Given the description of an element on the screen output the (x, y) to click on. 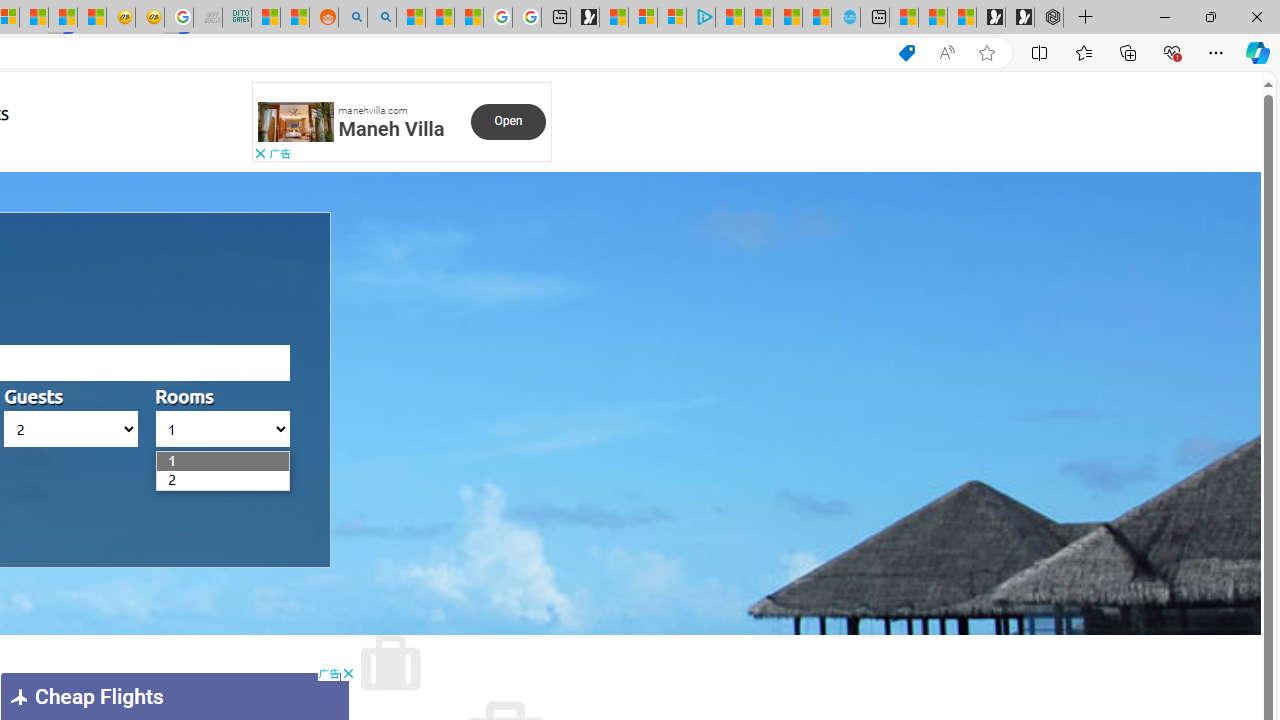
1 (167, 461)
Maneh Villa (391, 128)
Class: ns-pn6gp-e-2 svg-anchor text-button-final (508, 121)
AutomationID: hotels_rooms (222, 429)
